Given the description of an element on the screen output the (x, y) to click on. 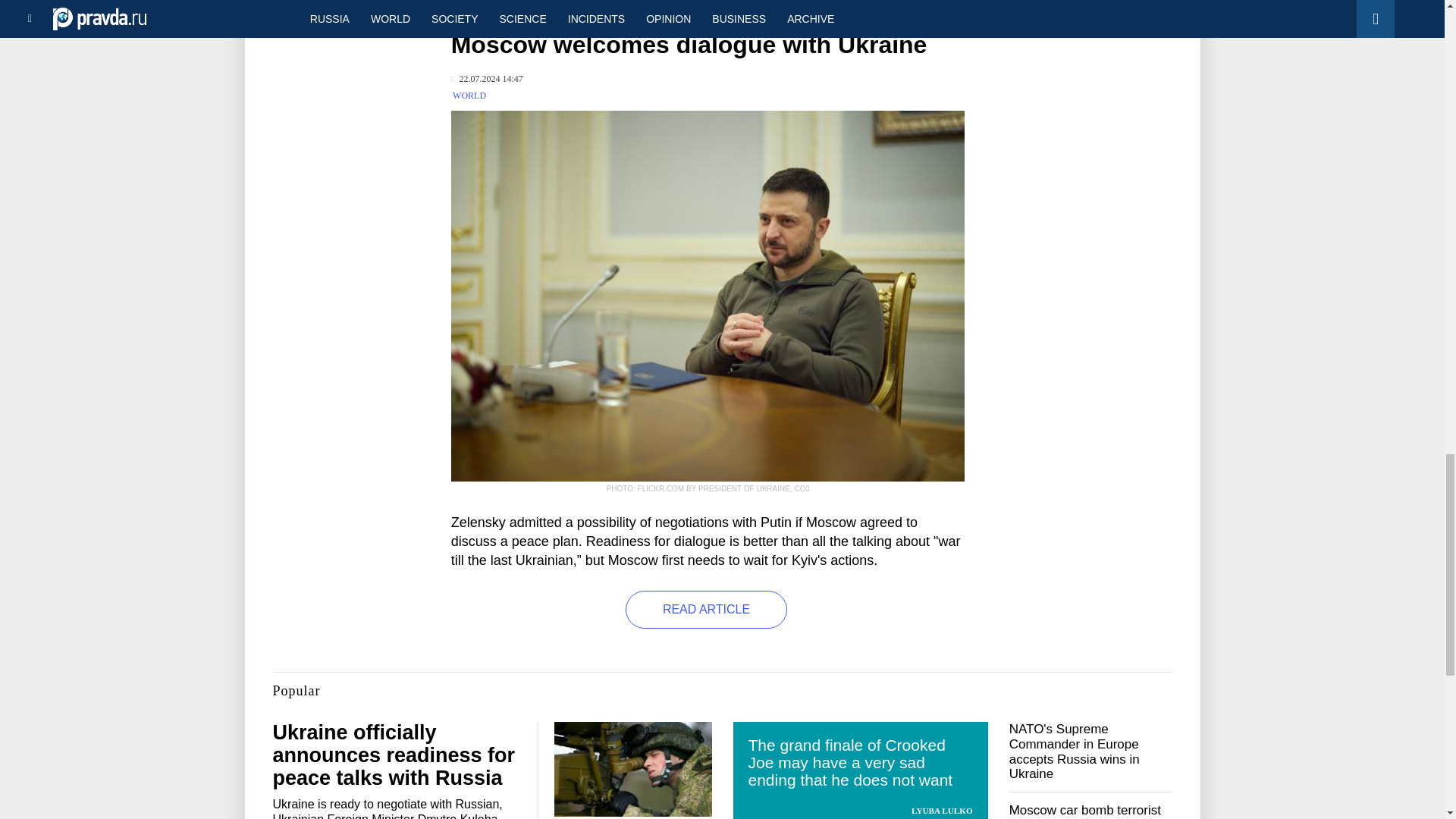
Published (486, 79)
